Given the description of an element on the screen output the (x, y) to click on. 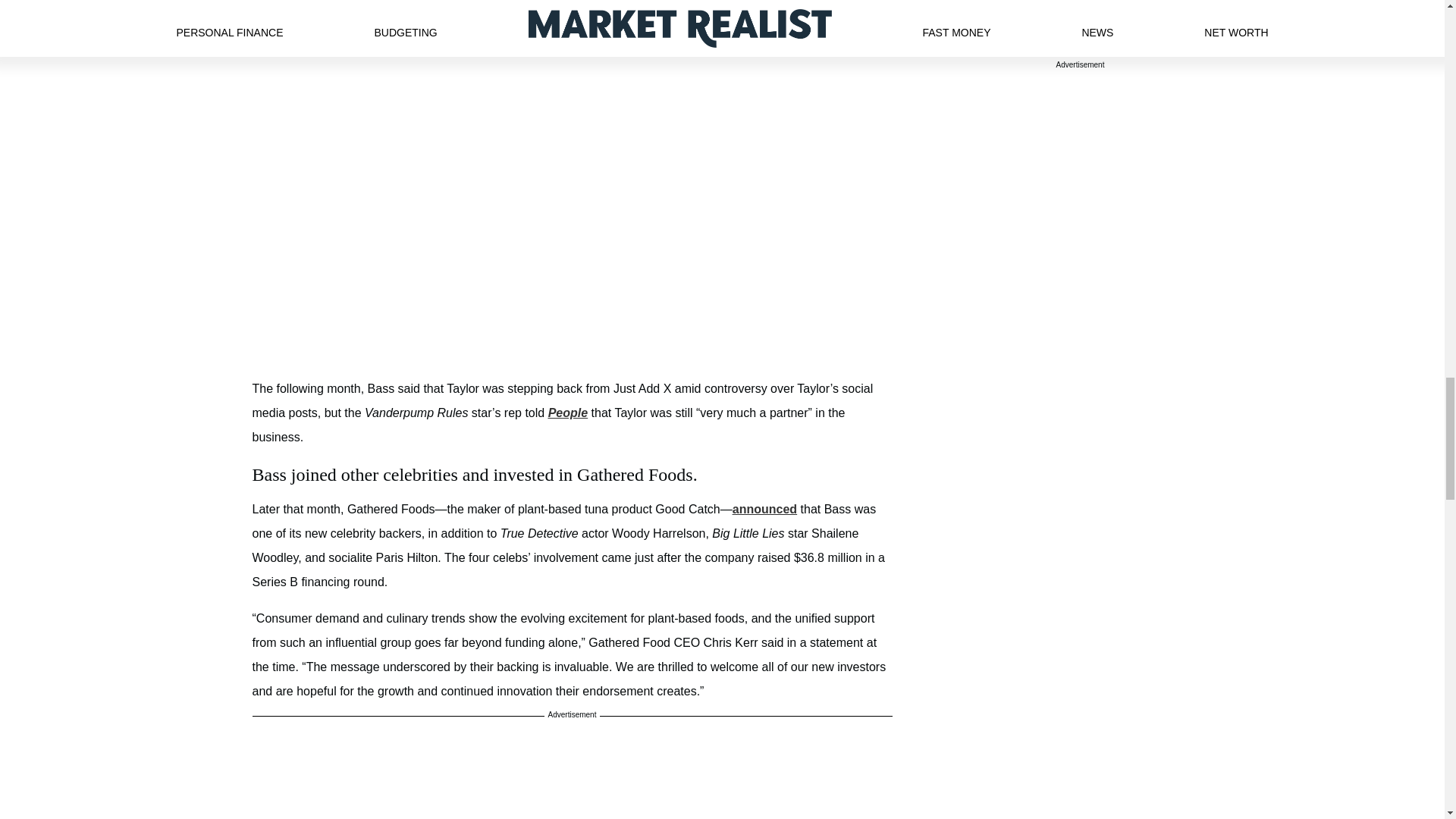
People (568, 412)
announced (764, 508)
